Given the description of an element on the screen output the (x, y) to click on. 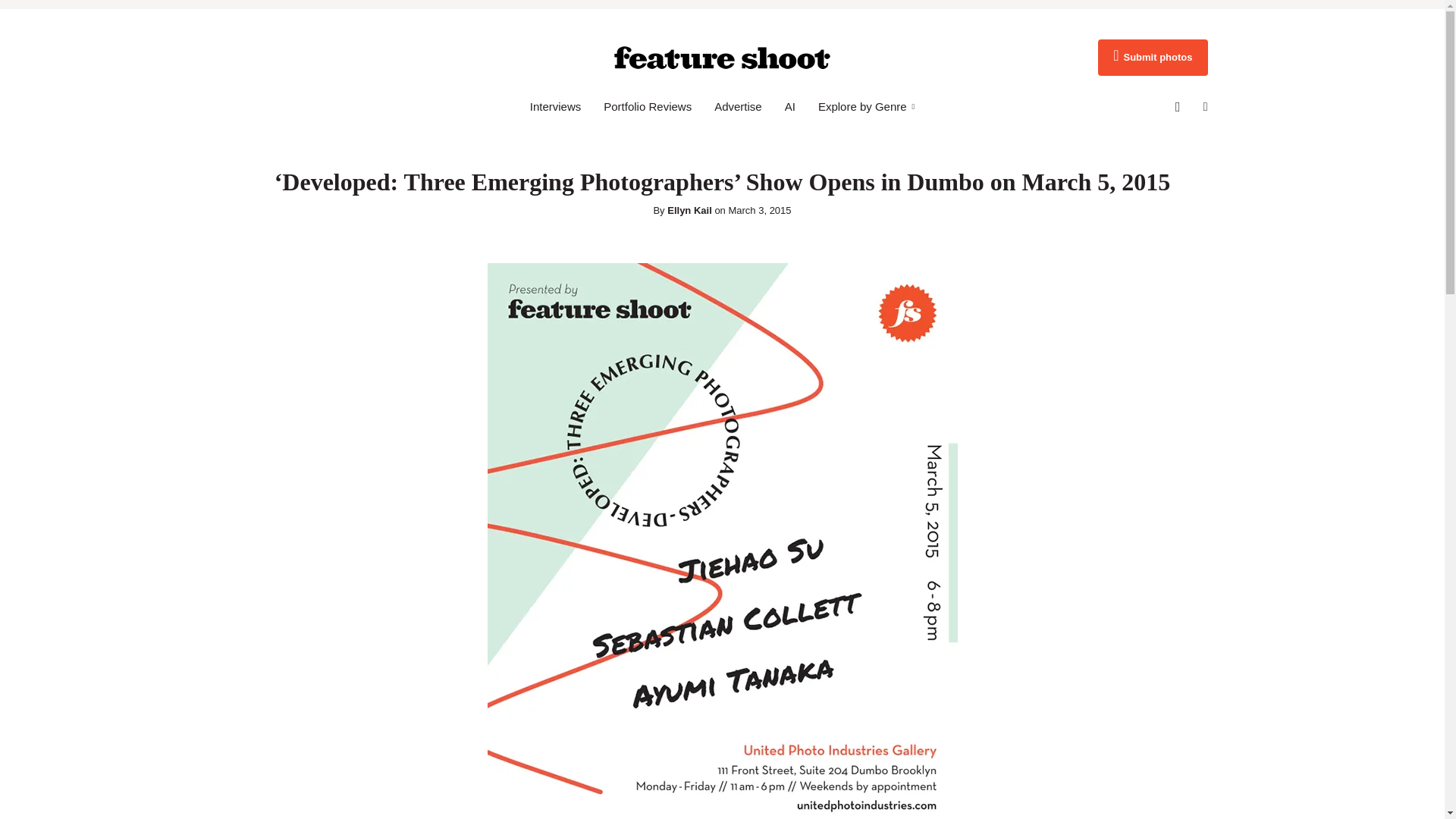
Interviews (554, 106)
Advertise (737, 106)
Posts by Ellyn Kail (688, 210)
Submit photos (1152, 57)
Ellyn Kail (688, 210)
Portfolio Reviews (647, 106)
Explore by Genre (866, 106)
